Given the description of an element on the screen output the (x, y) to click on. 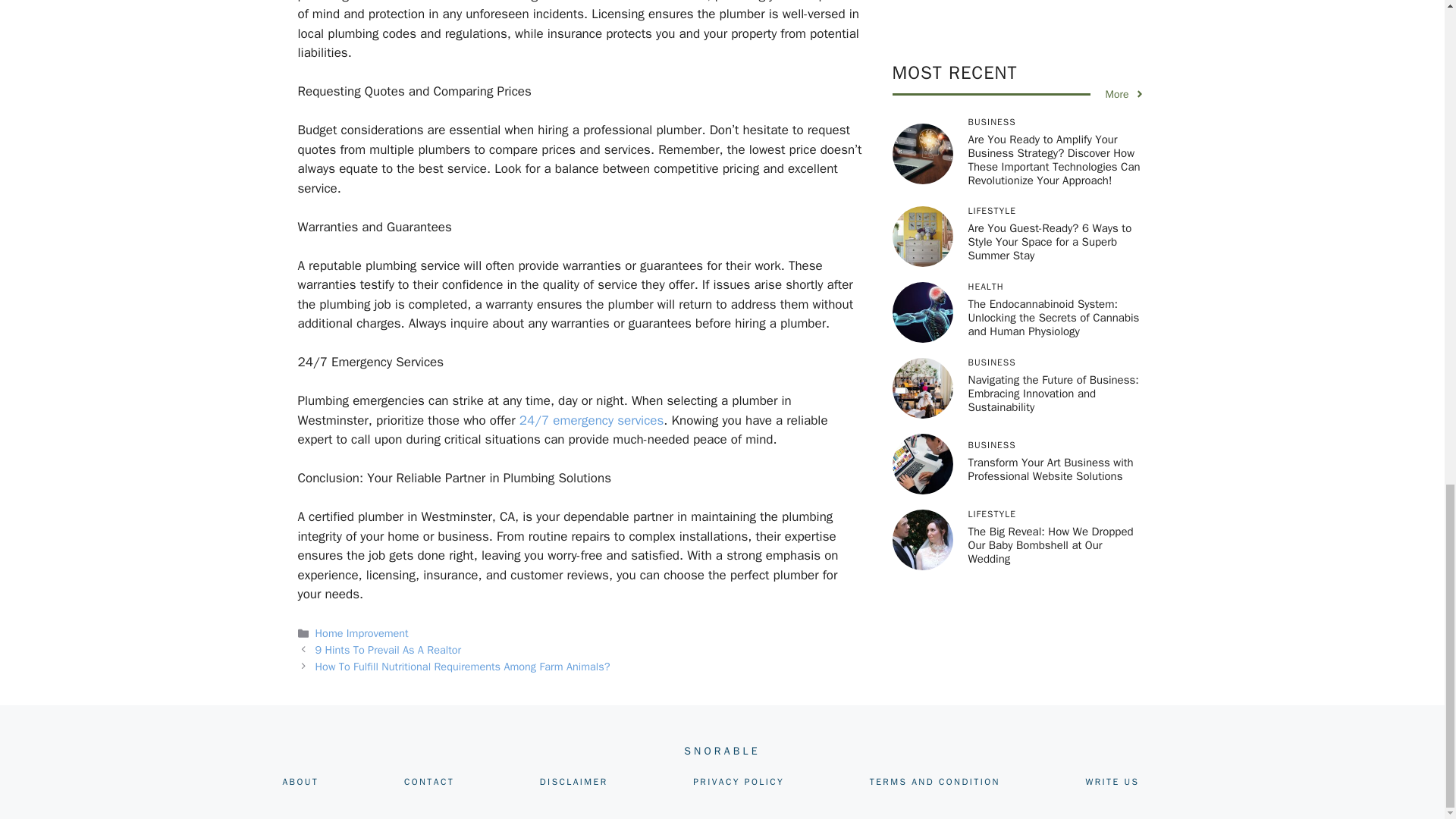
CONTACT (429, 781)
DISCLAIMER (574, 781)
SNORABLE (722, 750)
How To Fulfill Nutritional Requirements Among Farm Animals? (462, 666)
Home Improvement (362, 632)
ABOUT (300, 781)
PRIVACY POLICY (738, 781)
9 Hints To Prevail As A Realtor (388, 649)
